Given the description of an element on the screen output the (x, y) to click on. 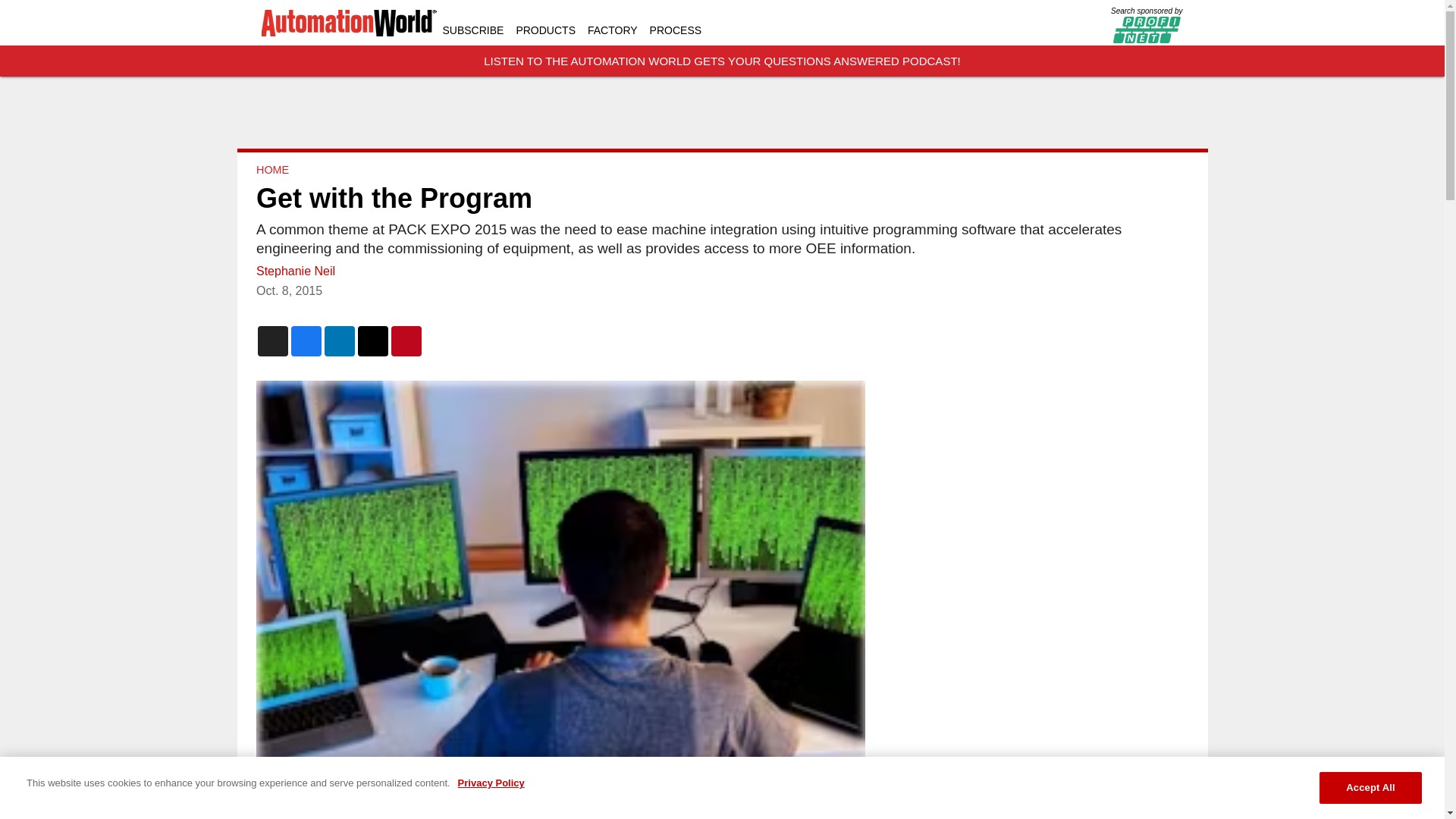
PRODUCTS (545, 30)
FACTORY (612, 30)
PROCESS (675, 30)
HOME (272, 169)
SUBSCRIBE (472, 30)
Stephanie Neil (295, 270)
